Given the description of an element on the screen output the (x, y) to click on. 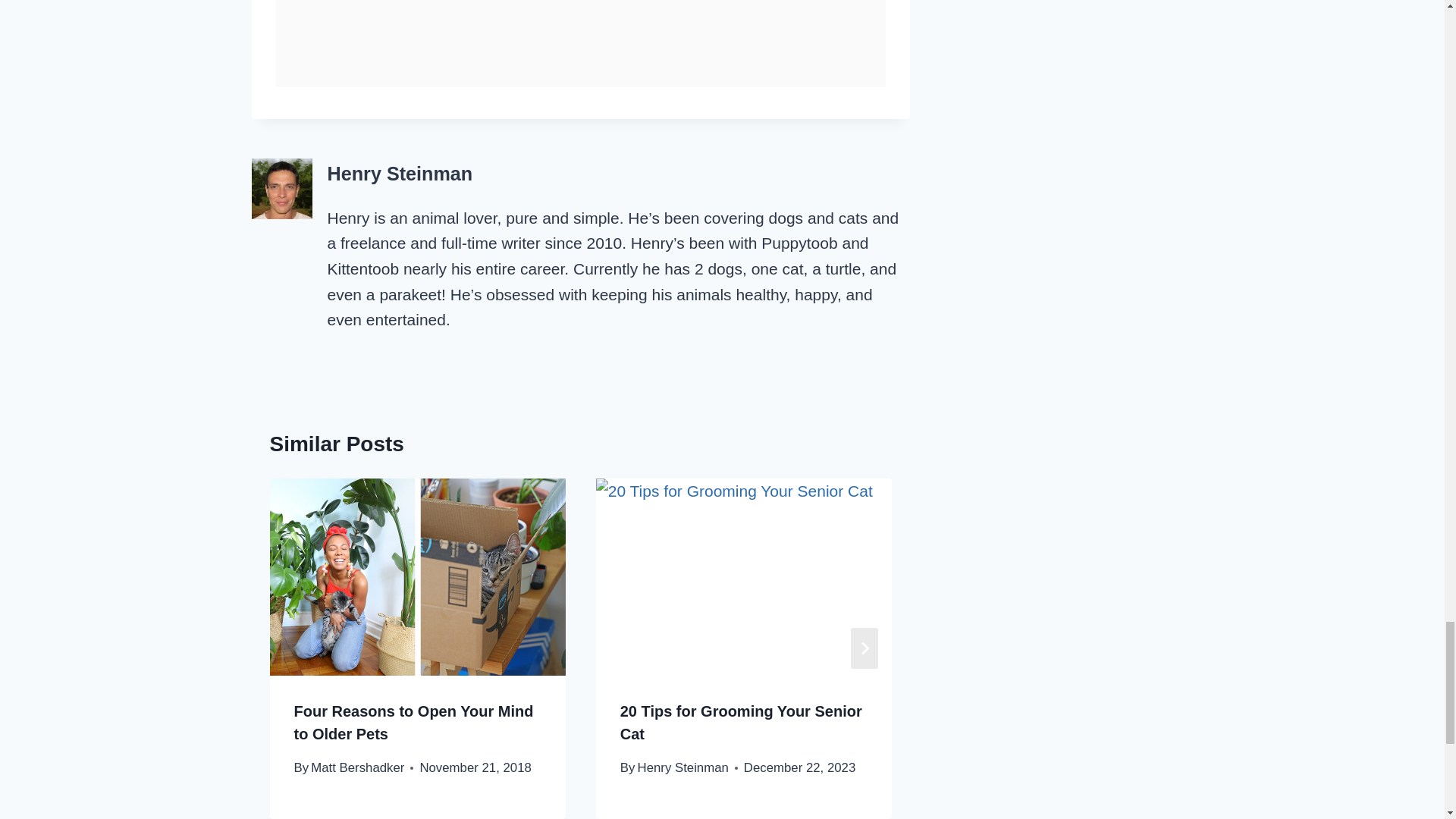
Matt Bershadker (357, 767)
20 Tips for Grooming Your Senior Cat (740, 722)
Henry Steinman (400, 173)
Four Reasons to Open Your Mind to Older Pets (414, 722)
Henry Steinman (683, 767)
Posts by Henry Steinman (400, 173)
